Given the description of an element on the screen output the (x, y) to click on. 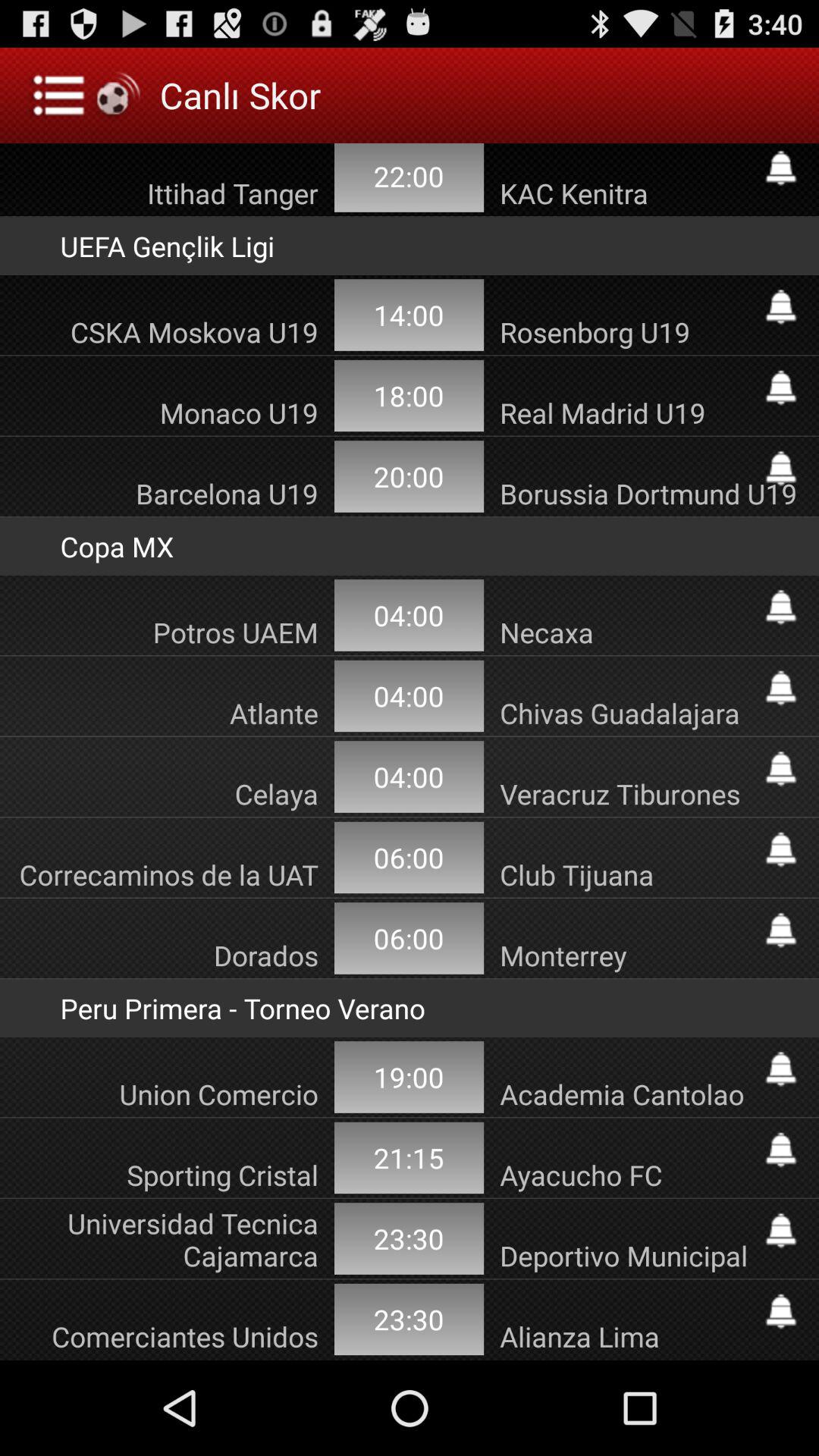
warns about the start of the match (780, 607)
